Given the description of an element on the screen output the (x, y) to click on. 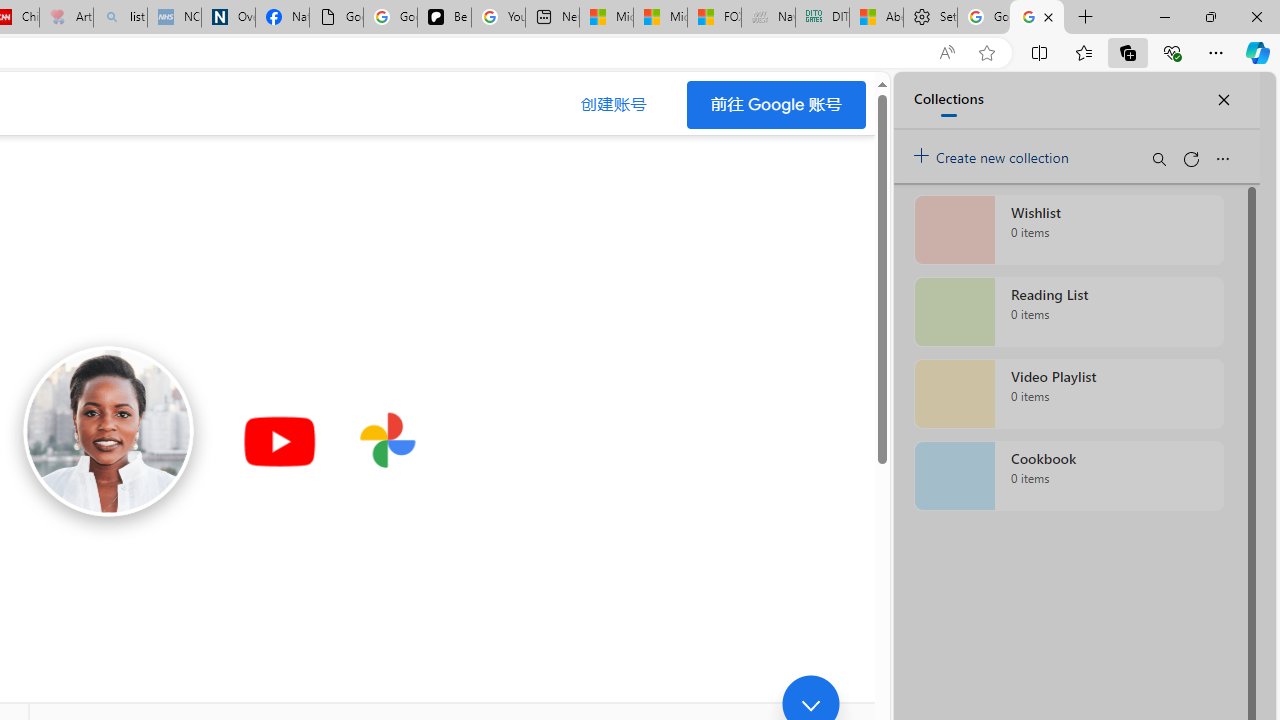
Navy Quest (768, 17)
Arthritis: Ask Health Professionals - Sleeping (66, 17)
